Given the description of an element on the screen output the (x, y) to click on. 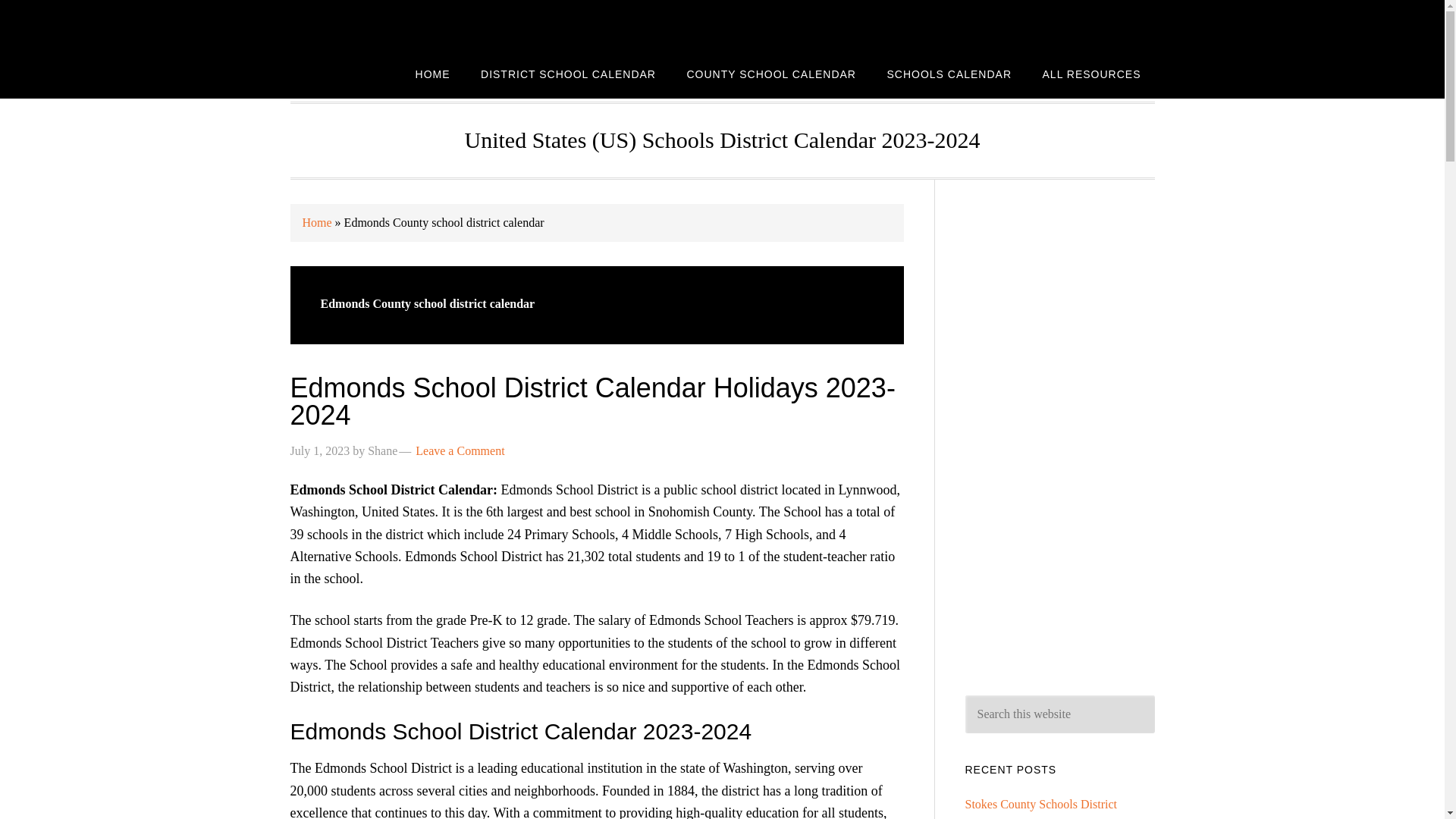
HOME (432, 73)
SCHOOL DISTRICT CALENDAR (410, 24)
DISTRICT SCHOOL CALENDAR (568, 73)
